Given the description of an element on the screen output the (x, y) to click on. 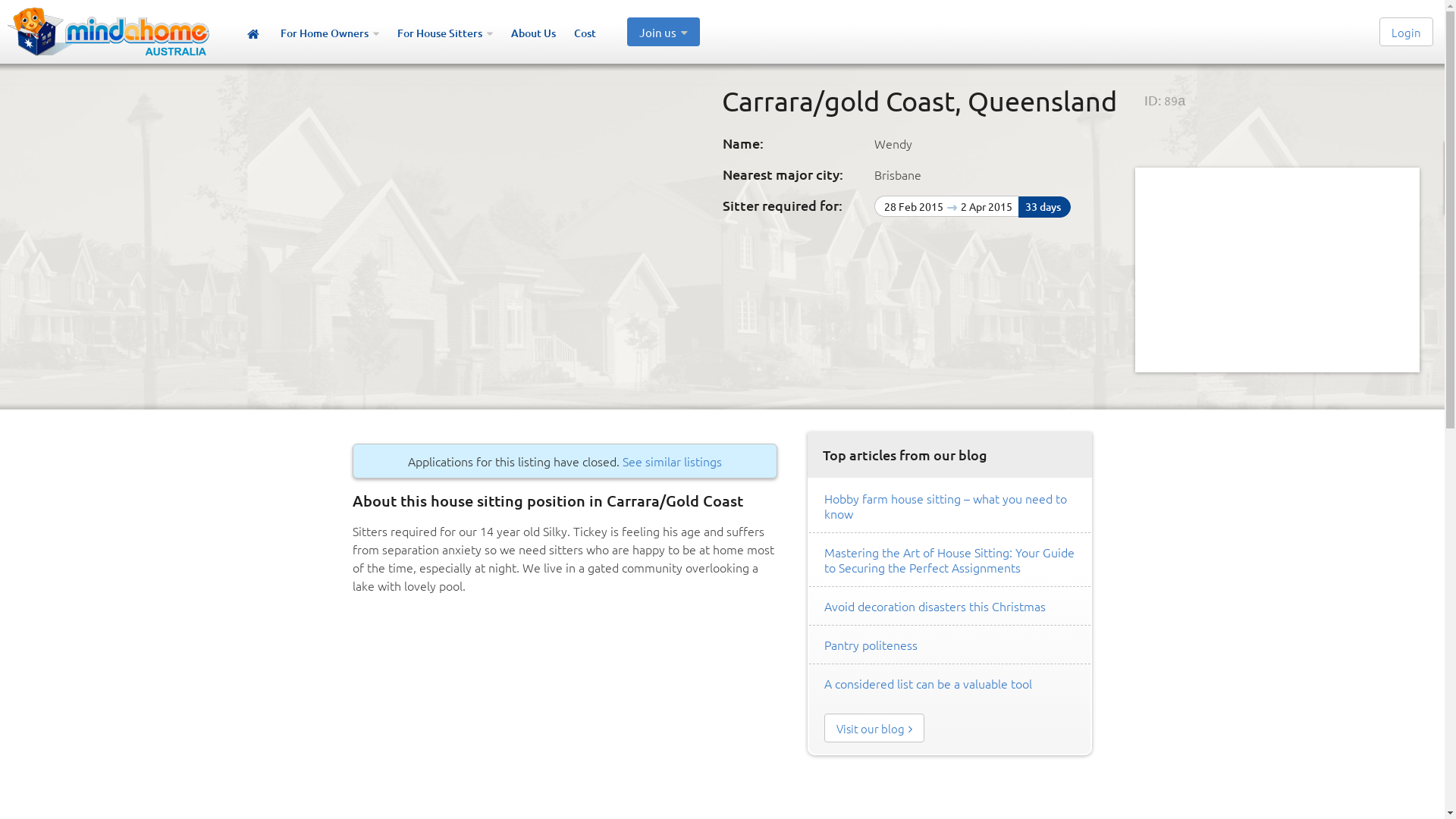
Join us Element type: text (663, 31)
A considered list can be a valuable tool Element type: text (928, 682)
Home Element type: text (252, 34)
Pantry politeness Element type: text (870, 644)
About Us Element type: text (533, 34)
See similar listings Element type: text (671, 460)
For Home Owners Element type: text (329, 34)
Login Element type: text (1406, 31)
Visit our blog Element type: text (874, 727)
For House Sitters Element type: text (444, 34)
Avoid decoration disasters this Christmas Element type: text (934, 605)
Cost Element type: text (584, 34)
